Given the description of an element on the screen output the (x, y) to click on. 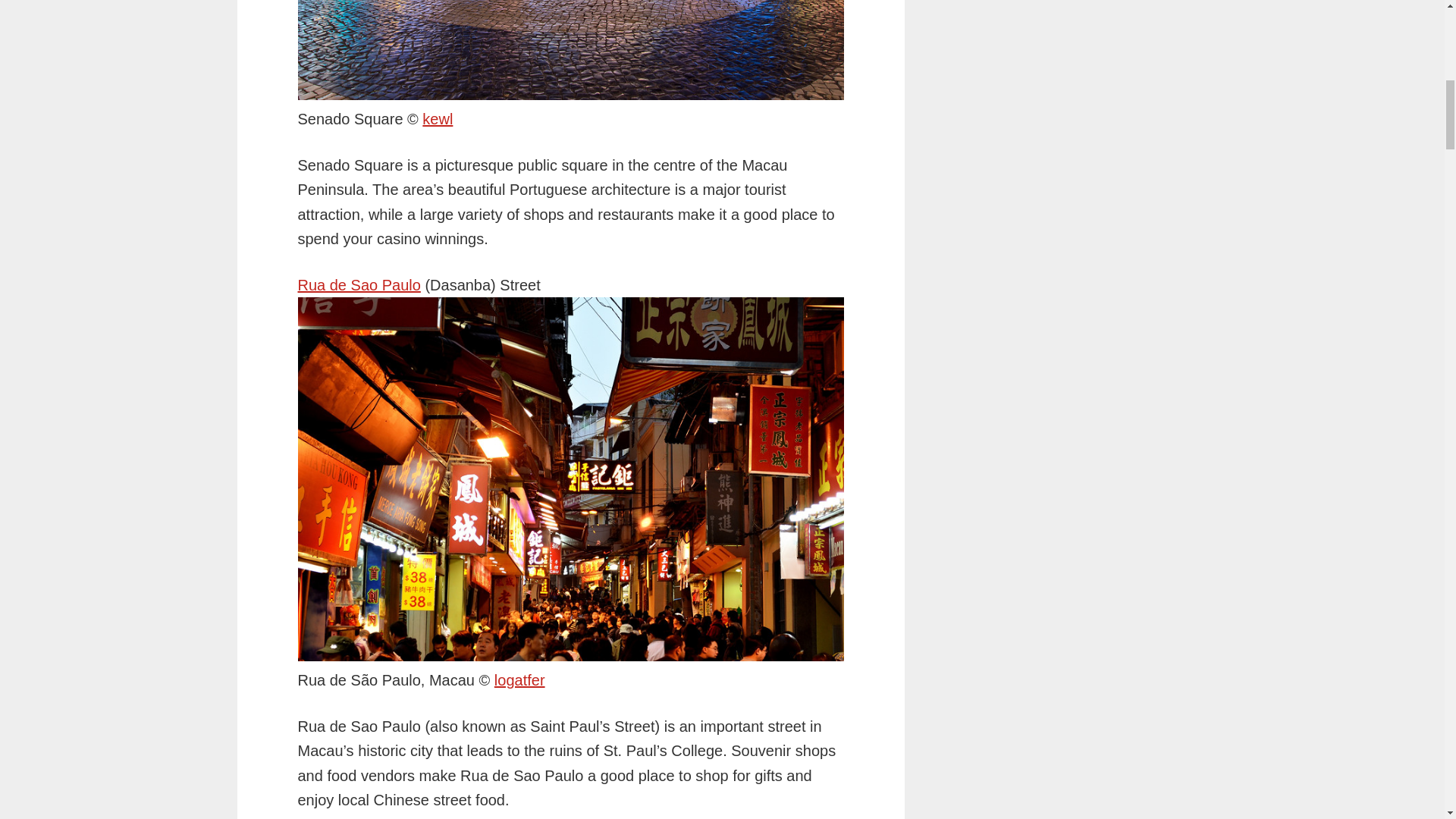
Rua de Sao Paulo (358, 284)
kewl (437, 118)
logatfer (519, 679)
Senado Square (437, 118)
